Given the description of an element on the screen output the (x, y) to click on. 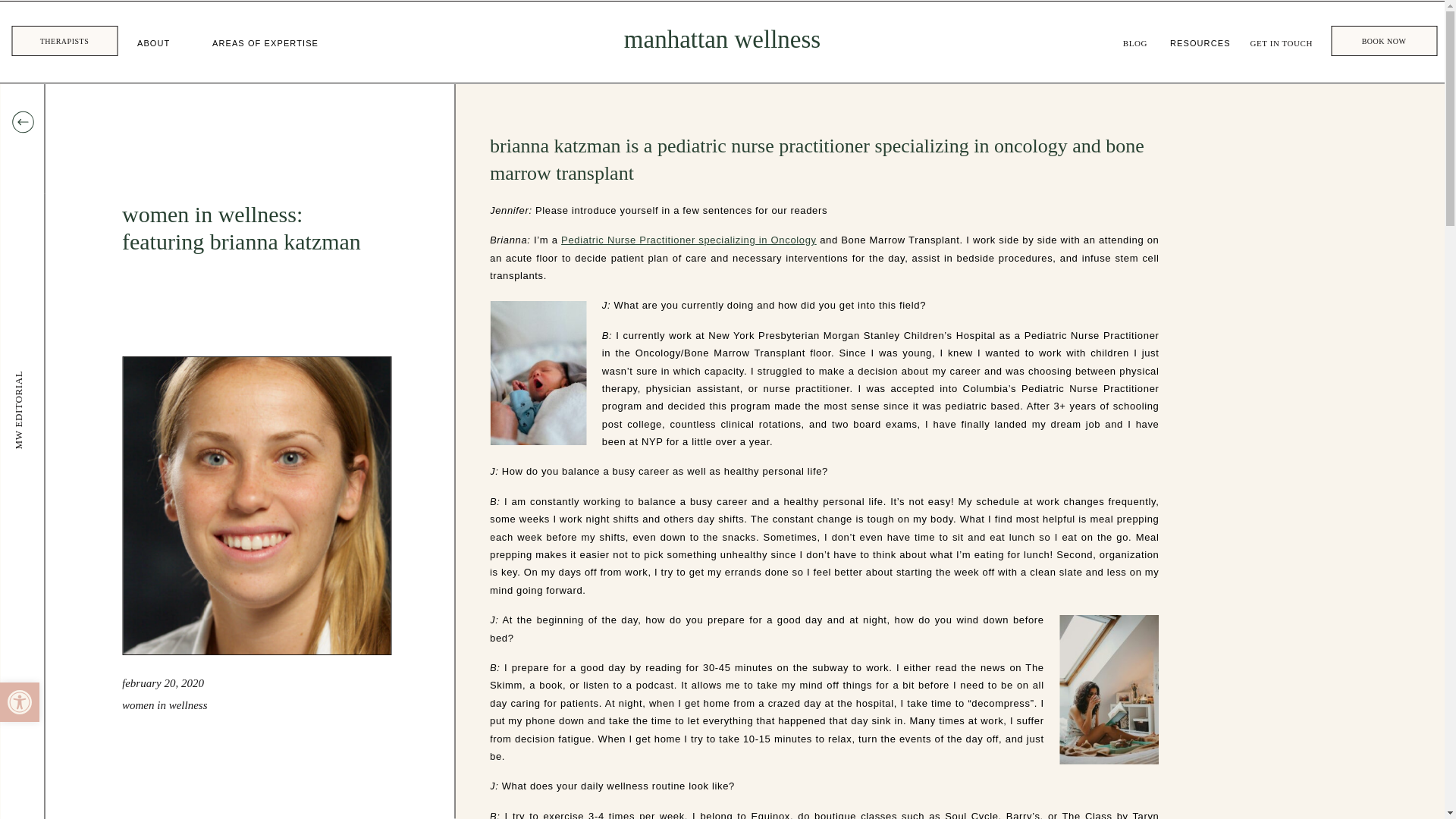
ABOUT (153, 43)
Accessibility Tools (19, 701)
Accessibility Tools (19, 702)
THERAPISTS (19, 701)
Grayscale (64, 40)
